Given the description of an element on the screen output the (x, y) to click on. 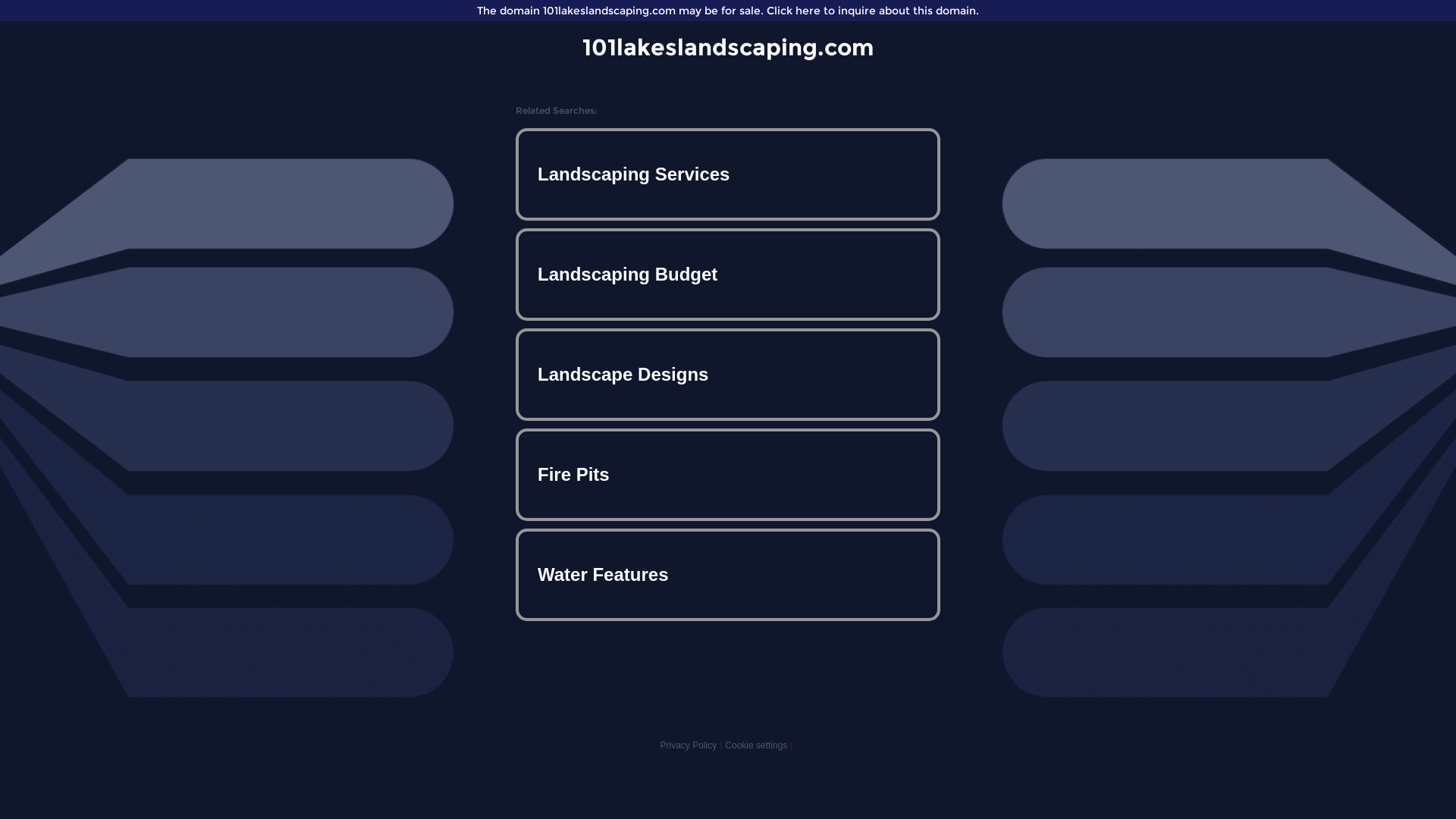
Landscape Designs Element type: text (727, 374)
Privacy Policy Element type: text (687, 745)
101lakeslandscaping.com Element type: text (727, 47)
Landscaping Services Element type: text (727, 174)
Cookie settings Element type: text (755, 745)
Landscaping Budget Element type: text (727, 274)
Water Features Element type: text (727, 574)
Fire Pits Element type: text (727, 474)
